Given the description of an element on the screen output the (x, y) to click on. 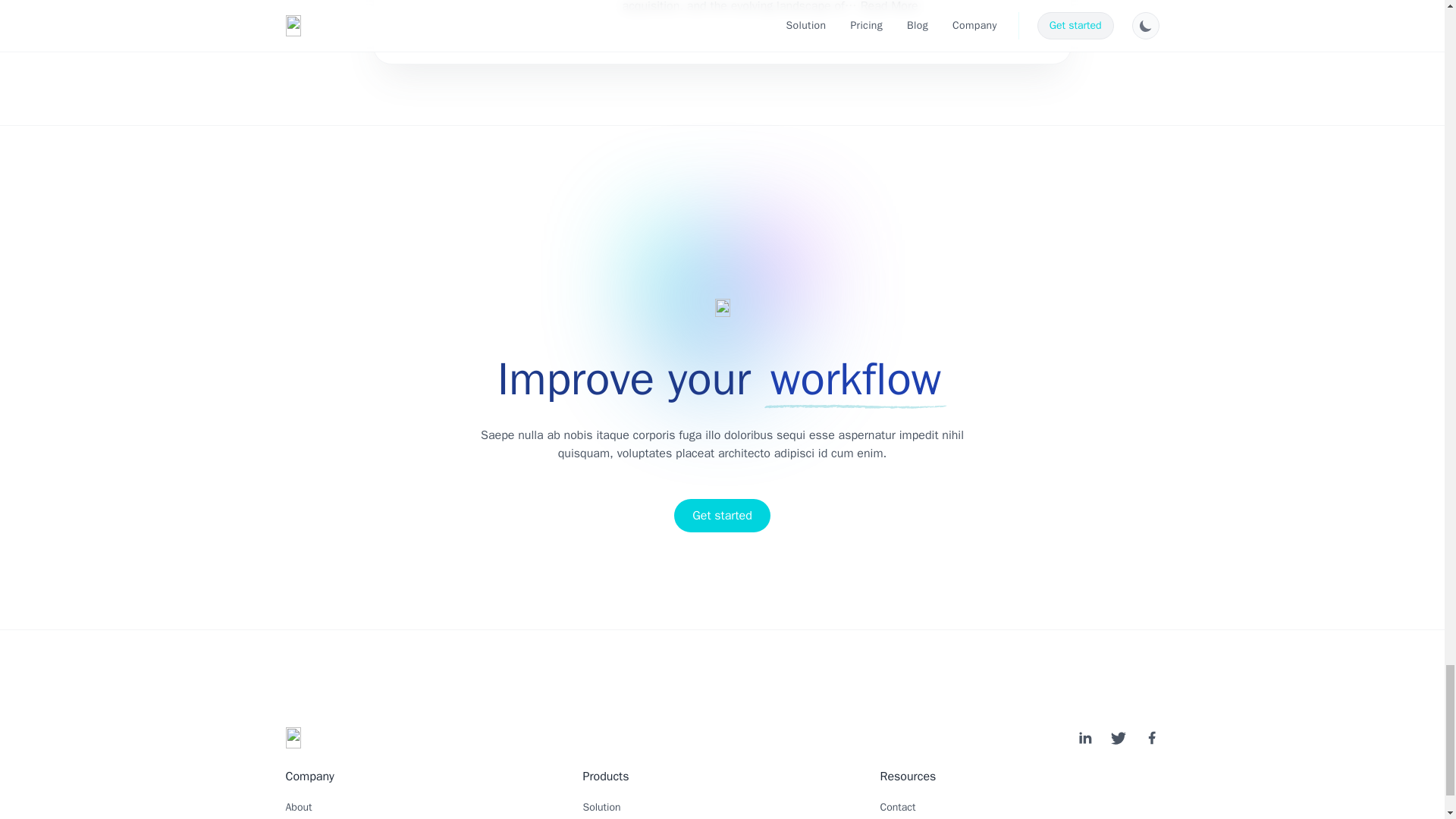
Read More (889, 6)
Solution (601, 807)
Contact (897, 807)
Twitter (1117, 737)
About (298, 807)
LinkedIn (1084, 737)
facebook (1150, 737)
Get started (722, 515)
